Given the description of an element on the screen output the (x, y) to click on. 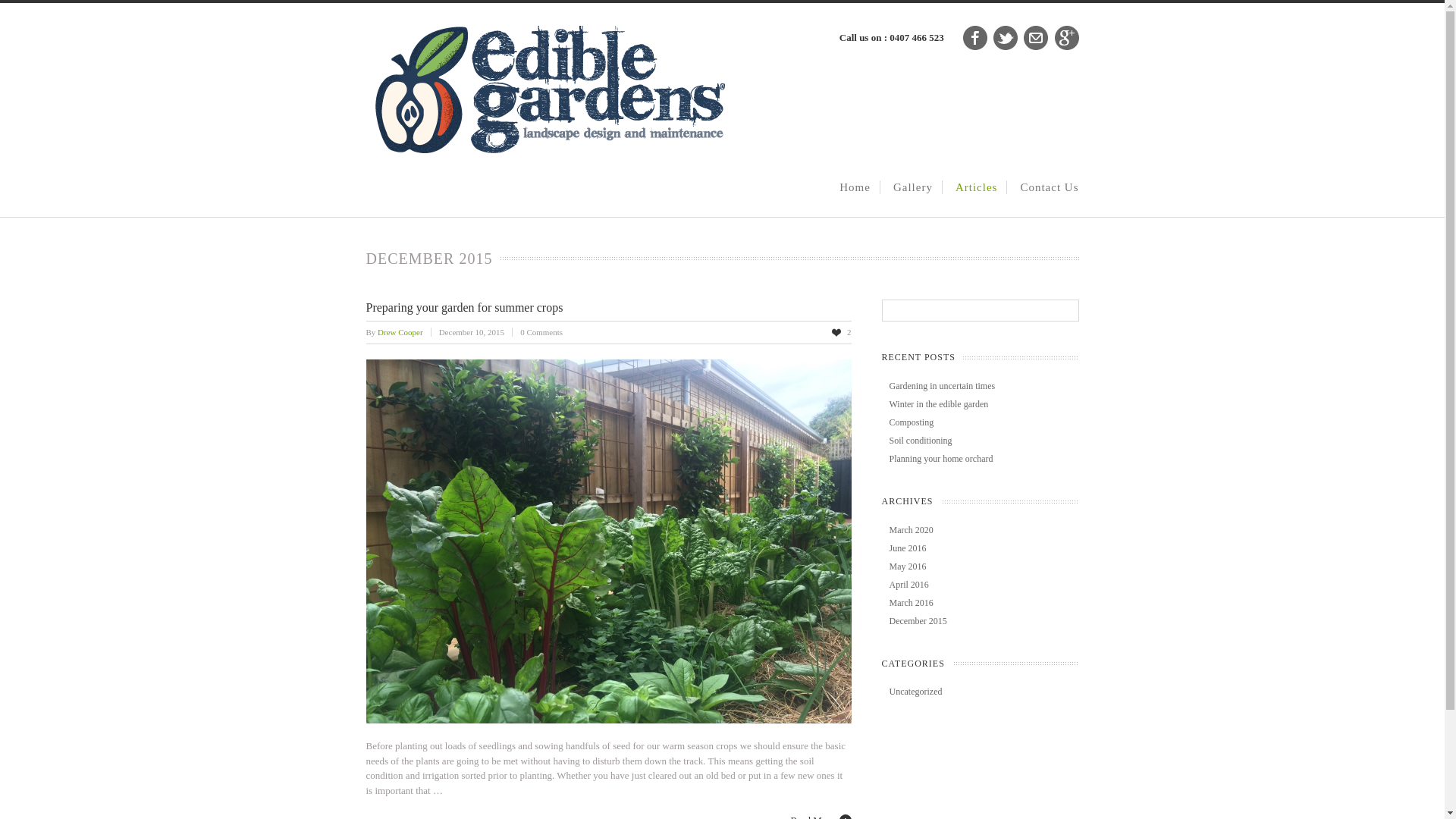
March 2016 Element type: text (910, 602)
0 Comments Element type: text (541, 331)
Gardening in uncertain times Element type: text (941, 385)
May 2016 Element type: text (906, 566)
June 2016 Element type: text (906, 547)
Articles Element type: text (976, 186)
Facebook Element type: hover (975, 37)
Soil conditioning Element type: text (919, 440)
Preparing your garden for summer crops Element type: text (463, 306)
Search Element type: text (26, 10)
Twitter Element type: hover (1005, 37)
Winter in the edible garden Element type: text (938, 403)
Email Element type: hover (1035, 37)
December 10, 2015 Element type: text (479, 331)
Planning your home orchard Element type: text (940, 458)
Googleplus Element type: hover (1066, 37)
Edible Gardens Element type: hover (546, 149)
April 2016 Element type: text (908, 584)
Home Element type: text (854, 186)
Contact Us Element type: text (1048, 186)
2 Element type: text (841, 331)
December 2015 Element type: text (917, 620)
March 2020 Element type: text (910, 529)
Uncategorized Element type: text (914, 691)
Composting Element type: text (910, 422)
Drew Cooper Element type: text (408, 331)
Gallery Element type: text (912, 186)
